Given the description of an element on the screen output the (x, y) to click on. 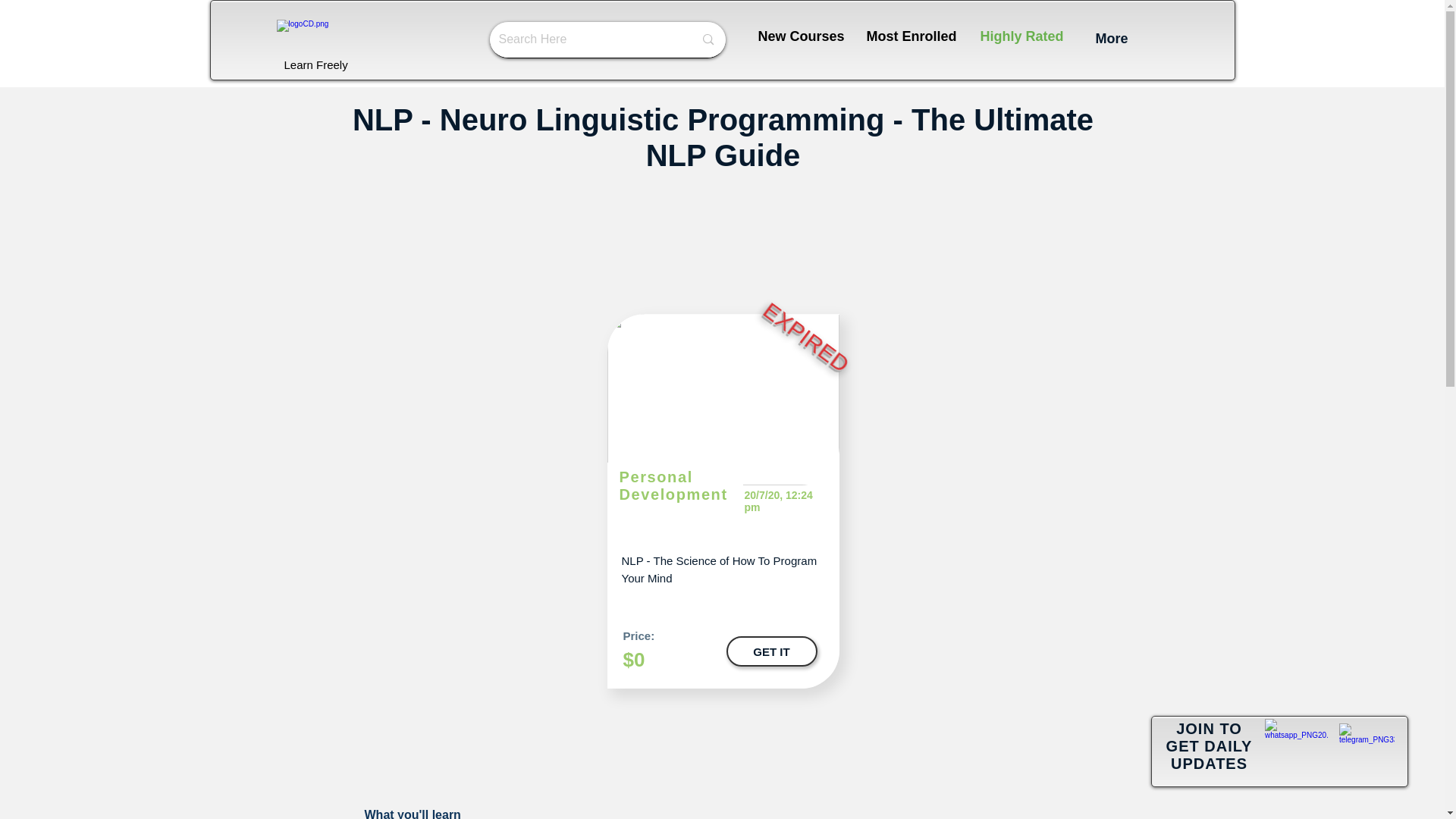
Most Enrolled (911, 36)
GET IT (771, 651)
Highly Rated (1020, 34)
New Courses (801, 36)
